Given the description of an element on the screen output the (x, y) to click on. 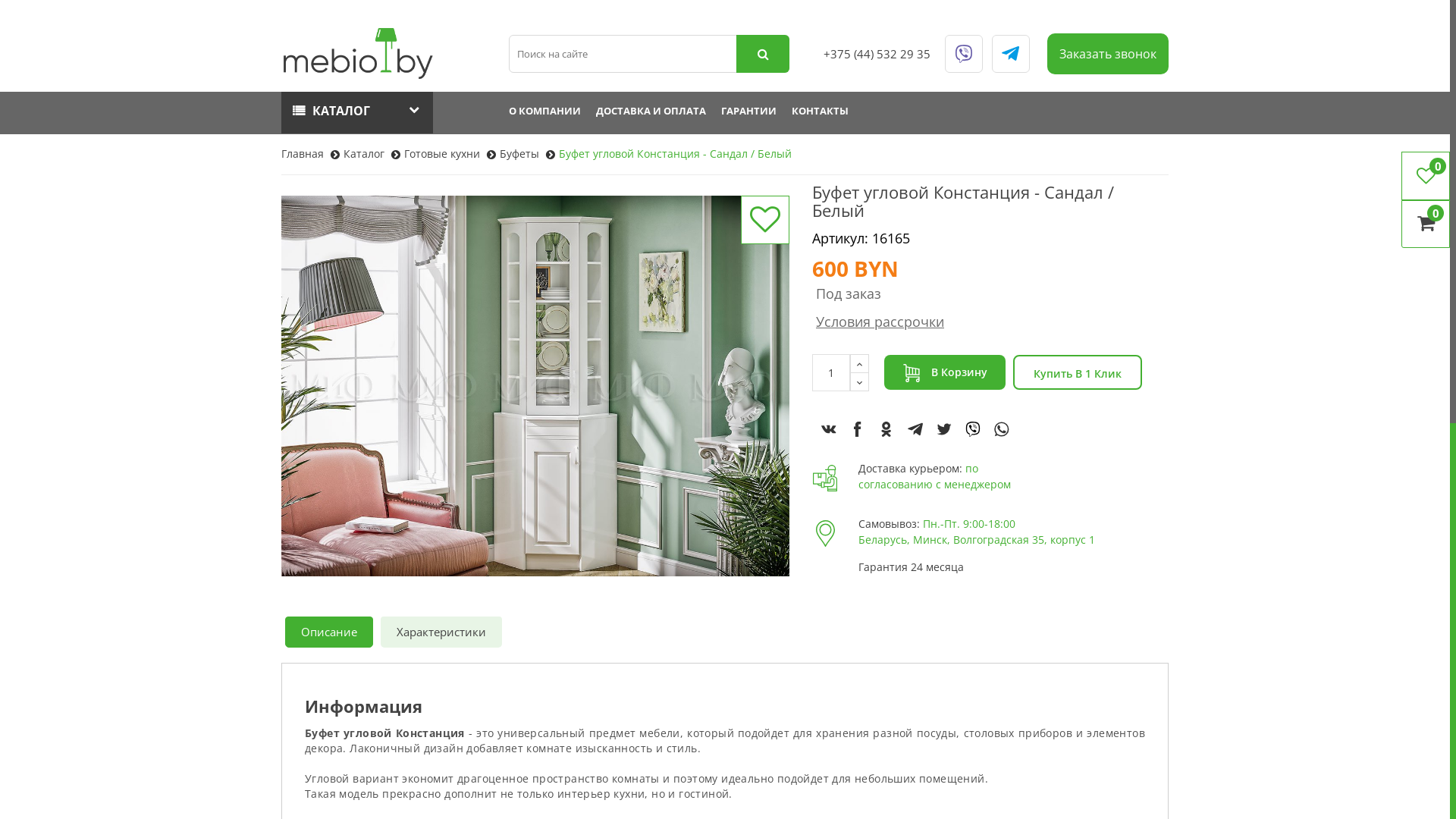
tool Element type: hover (825, 533)
0 Element type: text (1425, 223)
twitter Element type: hover (943, 428)
0 Element type: text (1425, 175)
delivery Element type: hover (825, 477)
telegram Element type: hover (914, 428)
whatsapp Element type: hover (1001, 428)
viber Element type: hover (972, 428)
vk Element type: hover (828, 428)
shopping-cart Element type: hover (911, 373)
+375 (44) 532 29 35 Element type: text (876, 53)
odnoklassniki Element type: hover (886, 428)
facebook Element type: hover (857, 428)
